Given the description of an element on the screen output the (x, y) to click on. 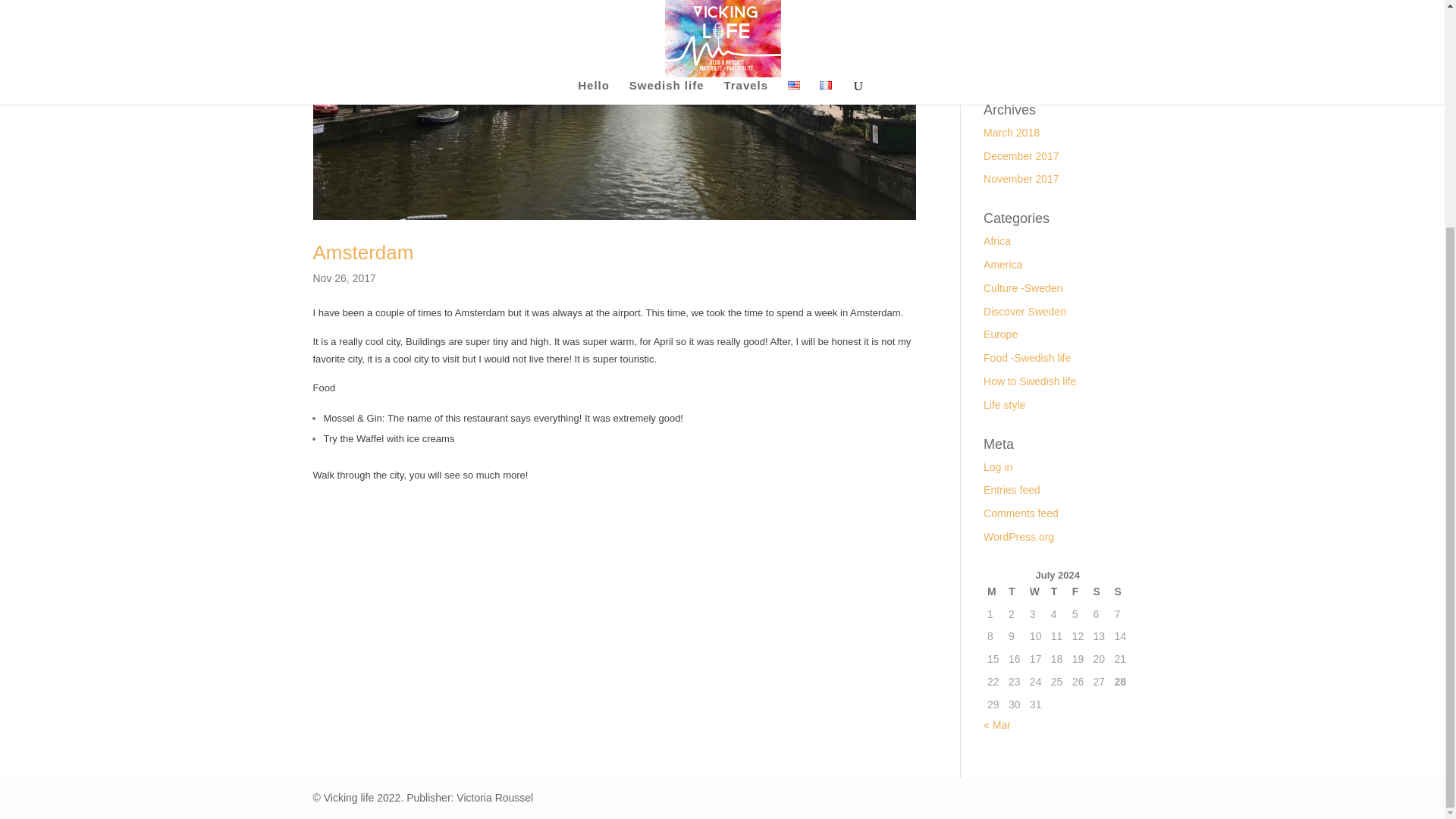
Culture -Sweden (1023, 287)
Entries feed (1012, 490)
Thursday (1057, 591)
How to Swedish life (1029, 381)
Africa (997, 241)
WordPress.org (1019, 536)
Wednesday (1036, 591)
March 2018 (1011, 132)
Life style (1004, 404)
November 2017 (1021, 178)
Amsterdam (363, 251)
Food -Swedish life (1027, 357)
December 2017 (1021, 155)
America (1003, 264)
Friday (1078, 591)
